Given the description of an element on the screen output the (x, y) to click on. 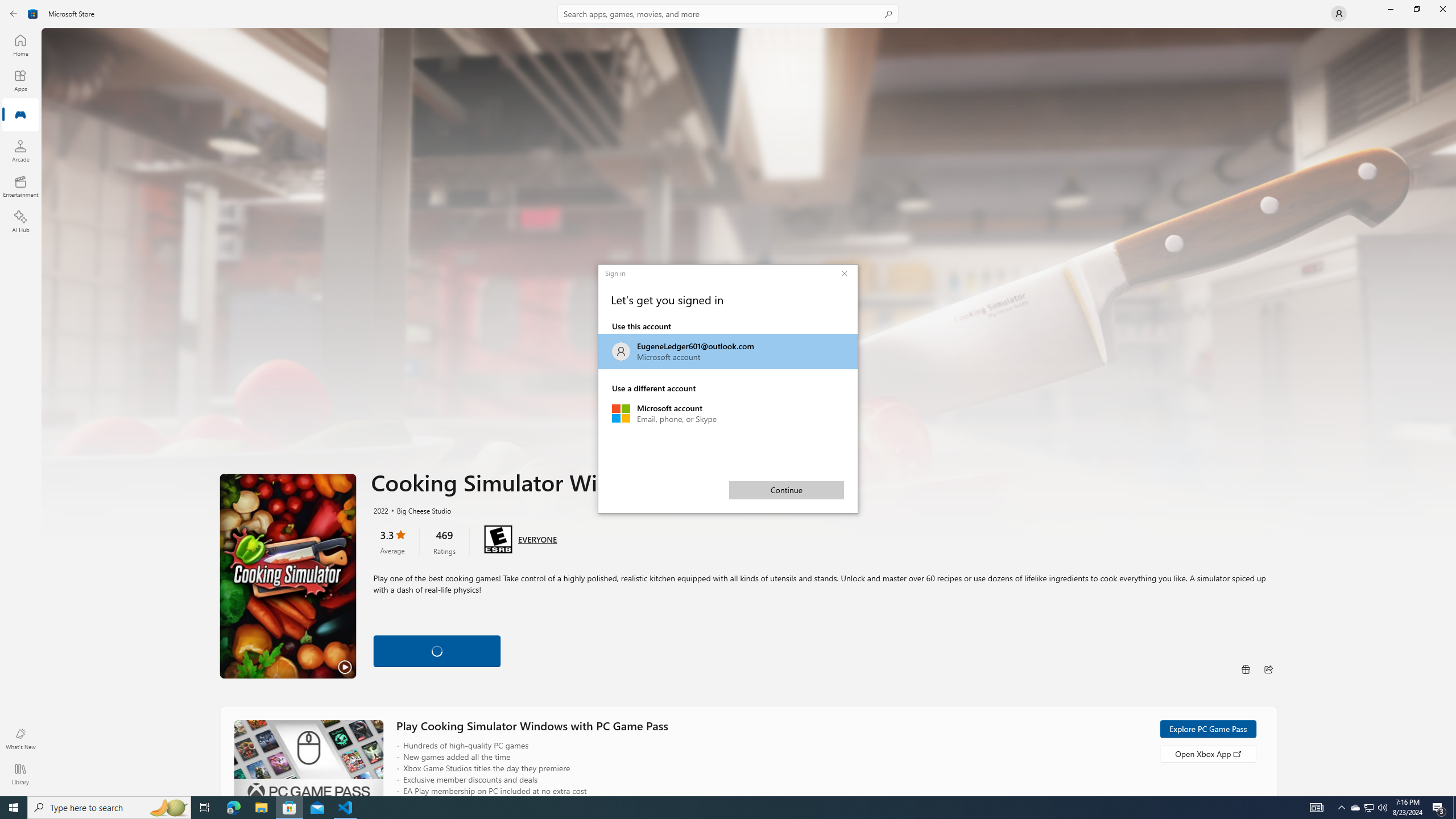
User Promoted Notification Area (1368, 807)
Task View (204, 807)
Running applications (717, 807)
File Explorer (261, 807)
Apps (20, 80)
Class: Image (32, 13)
Age rating: EVERYONE. Click for more information. (537, 538)
User profile (1338, 13)
2022 (379, 510)
Search highlights icon opens search home window (167, 807)
Q2790: 100% (1382, 807)
Vertical Small Increase (1452, 792)
Start (13, 807)
Arcade (20, 150)
Microsoft Edge (233, 807)
